Given the description of an element on the screen output the (x, y) to click on. 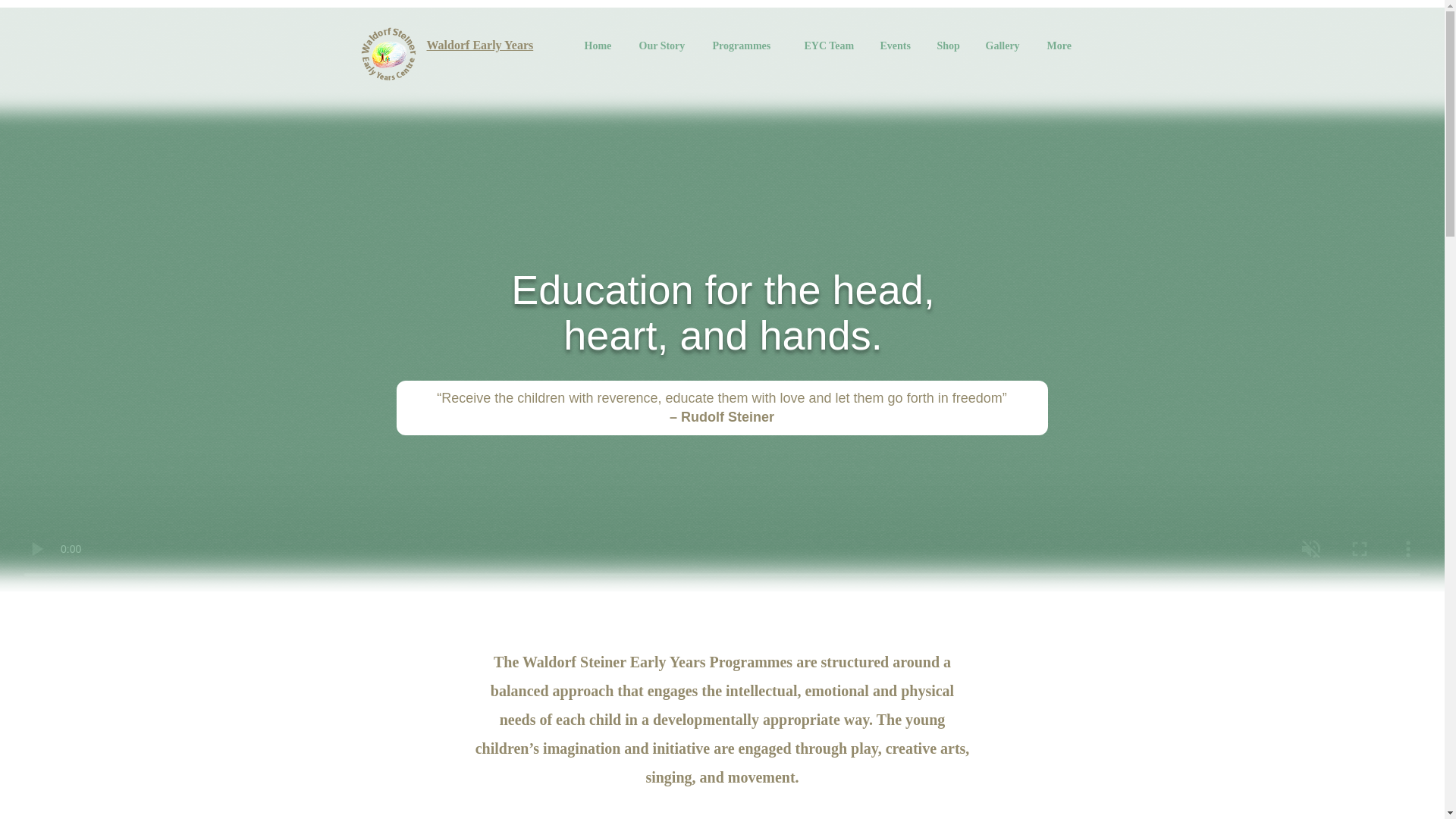
Shop (949, 45)
Gallery (1004, 45)
Our Story (664, 45)
Programmes (746, 45)
Events (897, 45)
Home (600, 45)
EYC Team (831, 45)
Waldorf Early Years (479, 44)
